Given the description of an element on the screen output the (x, y) to click on. 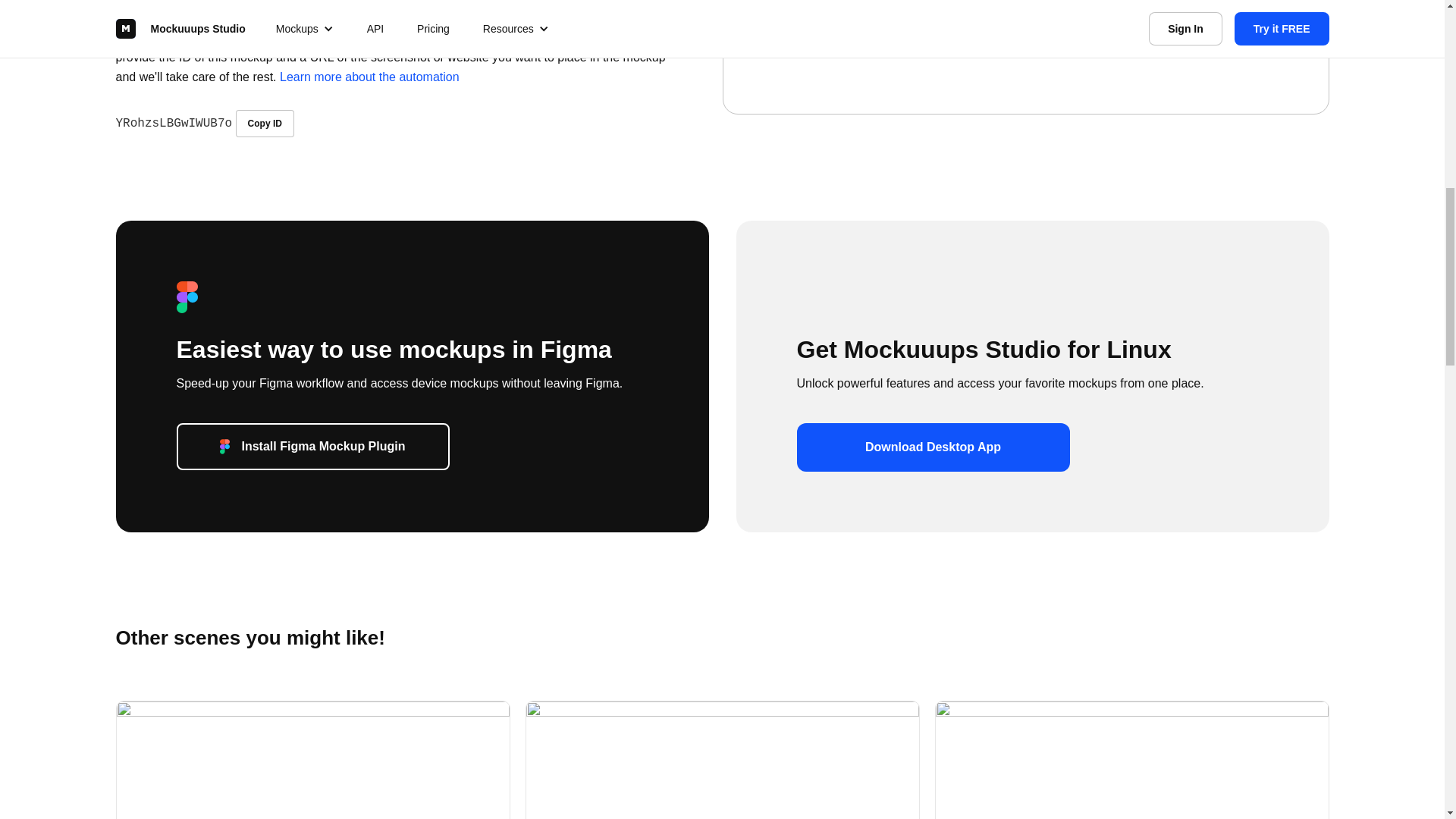
Install Figma Mockup Plugin (312, 446)
Download Desktop App (932, 447)
MOCKUP GENERATOR API (183, 12)
Holding Silver iPhone 7 mockup (721, 760)
Learn more about the automation (369, 76)
Copy ID (264, 123)
